Given the description of an element on the screen output the (x, y) to click on. 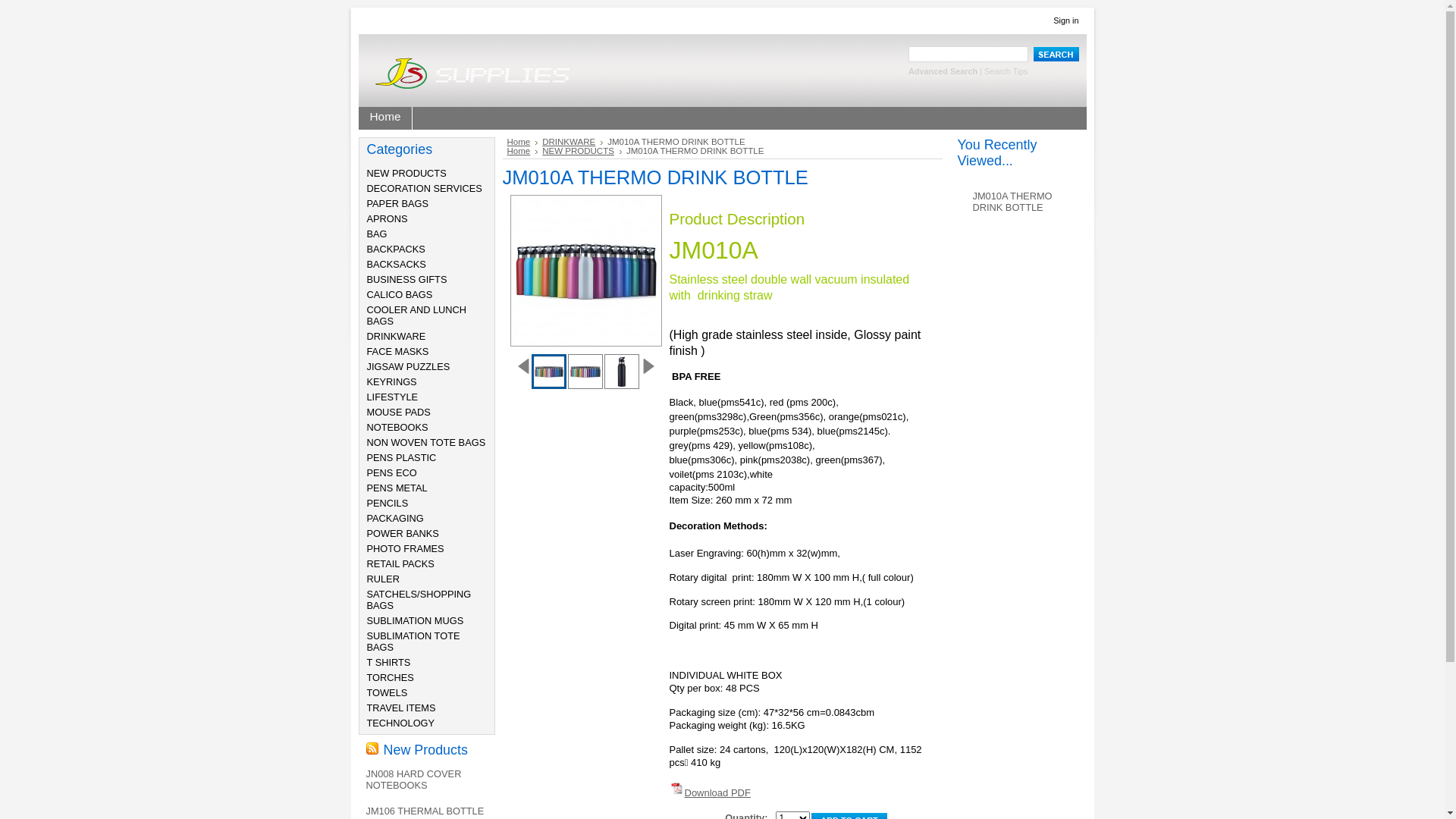
0 Element type: text (1130, 371)
437 Element type: text (4, 4)
RULER Element type: text (383, 578)
PENS PLASTIC Element type: text (401, 457)
BACKPACKS Element type: text (396, 248)
T SHIRTS Element type: text (389, 662)
POWER BANKS Element type: text (403, 533)
JM106 THERMAL BOTTLE Element type: text (424, 810)
PHOTO FRAMES Element type: text (405, 548)
TRAVEL ITEMS Element type: text (401, 707)
Home Element type: text (384, 117)
0 Element type: text (693, 371)
PACKAGING Element type: text (395, 518)
0 Element type: text (911, 371)
PAPER BAGS Element type: text (398, 203)
FACE MASKS Element type: text (398, 351)
PENCILS Element type: text (387, 502)
0 Element type: text (802, 371)
NOTEBOOKS Element type: text (397, 427)
Download PDF Element type: text (716, 792)
0 Element type: text (547, 371)
APRONS Element type: text (387, 218)
SUBLIMATION TOTE BAGS Element type: text (413, 641)
0 Element type: text (657, 371)
0 Element type: text (729, 371)
0 Element type: text (584, 371)
Advanced Search Element type: text (942, 70)
NON WOVEN TOTE BAGS Element type: text (426, 442)
0 Element type: text (1057, 371)
icon-pdf.gif Element type: hover (676, 788)
BAG Element type: text (377, 233)
0 Element type: text (948, 371)
NEW PRODUCTS Element type: text (581, 150)
KEYRINGS Element type: text (392, 381)
RETAIL PACKS Element type: text (400, 563)
0 Element type: text (1093, 371)
BLACK Element type: hover (621, 371)
BUSINESS GIFTS Element type: text (407, 279)
Image 1 Element type: hover (548, 371)
JN008 HARD COVER NOTEBOOKS Element type: text (413, 779)
Image 2 Element type: hover (585, 366)
LIFESTYLE Element type: text (392, 396)
0 Element type: text (766, 371)
0 Element type: text (875, 371)
CALICO BAGS Element type: text (400, 294)
0 Element type: text (1166, 371)
DECORATION SERVICES Element type: text (424, 188)
COOLER AND LUNCH BAGS Element type: text (417, 315)
SATCHELS/SHOPPING BAGS Element type: text (419, 599)
Sign in Element type: text (1065, 20)
0 Element type: text (839, 371)
NEW PRODUCTS Element type: text (406, 172)
Search Tips Element type: text (1005, 70)
New Products RSS Feed Element type: hover (371, 748)
PENS ECO Element type: text (392, 472)
TORCHES Element type: text (390, 677)
MOUSE PADS Element type: text (398, 411)
JM010A THERMO DRINK BOTTLE Element type: text (1011, 201)
TECHNOLOGY Element type: text (401, 722)
DRINKWARE Element type: text (572, 141)
DRINKWARE Element type: text (396, 336)
Home Element type: text (521, 141)
0 Element type: text (984, 371)
PENS METAL Element type: text (397, 487)
SUBLIMATION MUGS Element type: text (415, 620)
BACKSACKS Element type: text (396, 263)
TOWELS Element type: text (387, 692)
0 Element type: text (1021, 371)
Home Element type: text (521, 150)
0 Element type: text (620, 371)
JIGSAW PUZZLES Element type: text (408, 366)
